Given the description of an element on the screen output the (x, y) to click on. 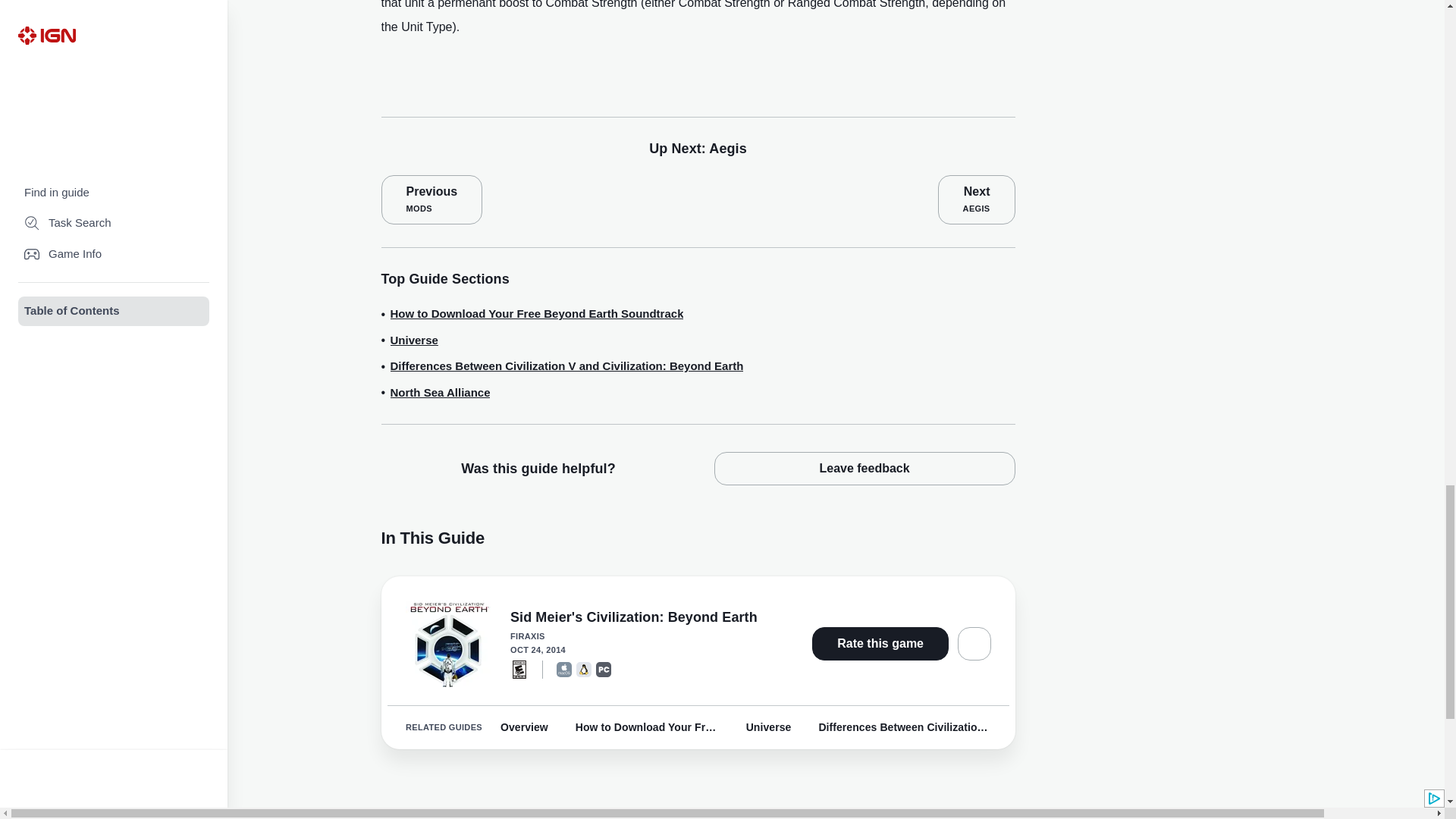
PC (603, 668)
Macintosh (564, 668)
Linux (583, 668)
